Given the description of an element on the screen output the (x, y) to click on. 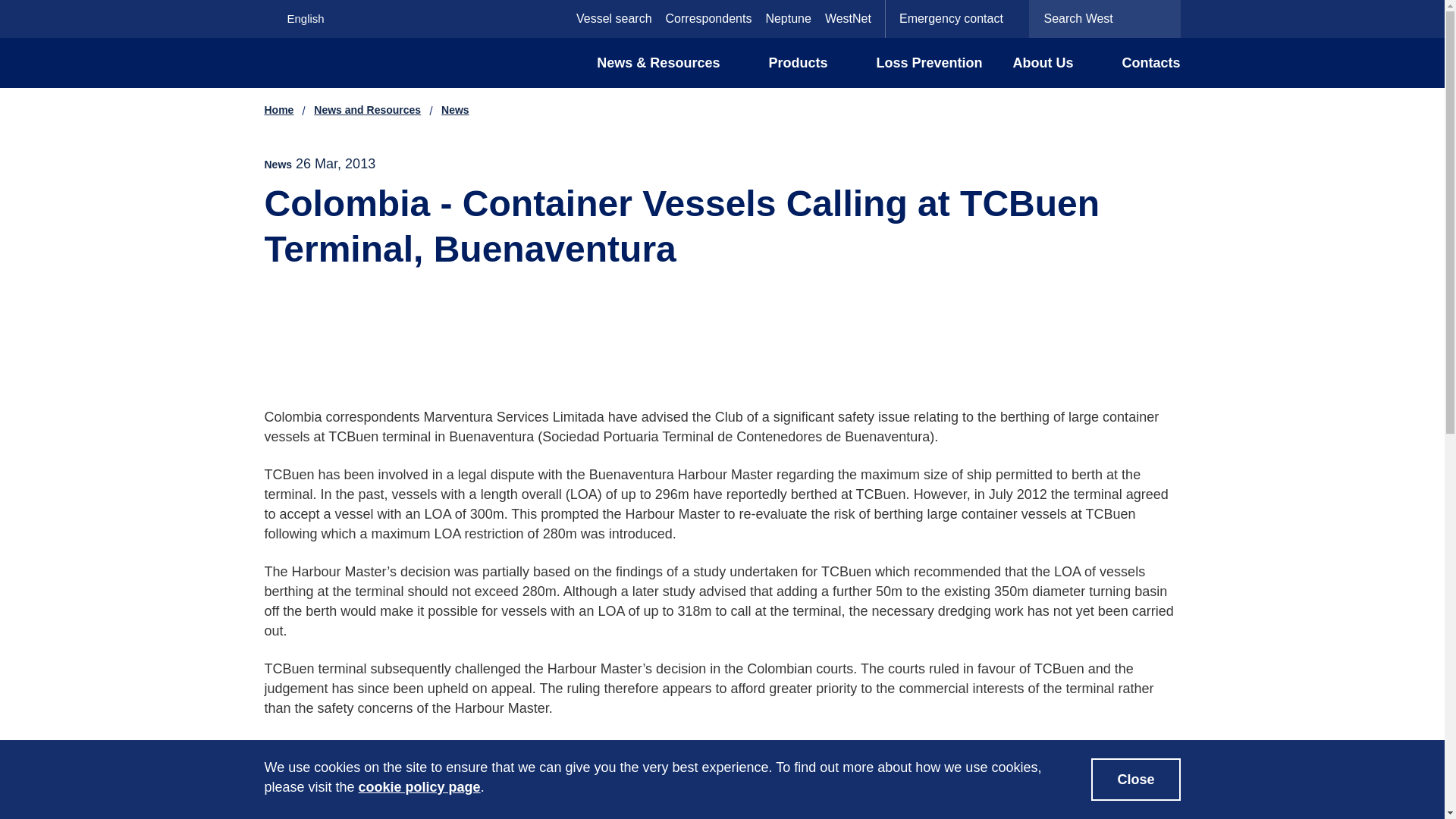
Correspondents (708, 18)
Neptune (787, 18)
Emergency contact (956, 18)
WestNet (847, 18)
Vessel search (614, 18)
English (324, 18)
